Given the description of an element on the screen output the (x, y) to click on. 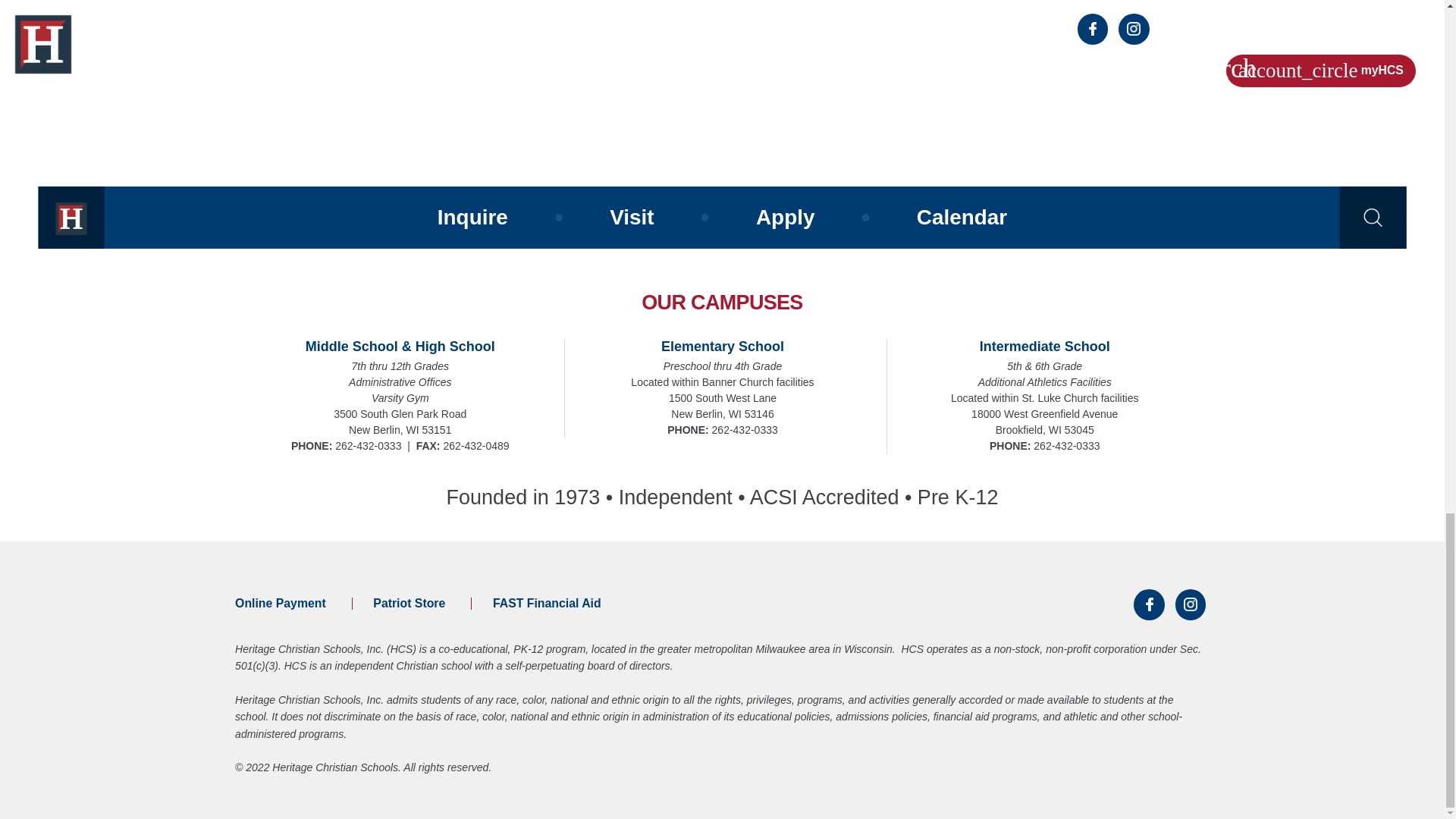
Search (1372, 217)
